Given the description of an element on the screen output the (x, y) to click on. 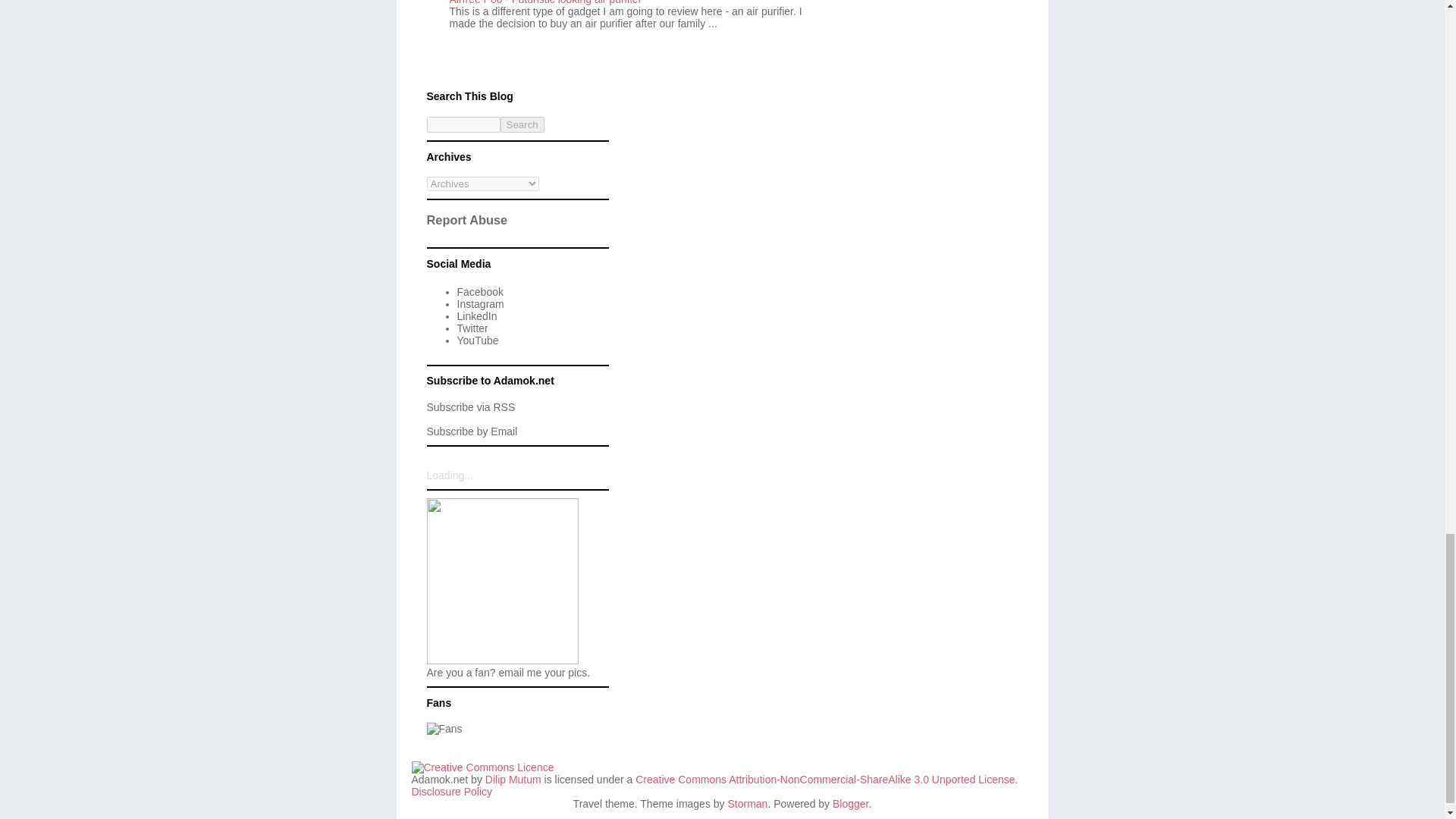
Twitter (472, 328)
Search (522, 124)
Subscribe by Email (471, 431)
YouTube (477, 340)
Instagram (480, 304)
Airfree P80 - Futuristic looking air purifier (545, 2)
LinkedIn (476, 316)
Facebook (479, 291)
Report Abuse (466, 219)
Search (522, 124)
